Given the description of an element on the screen output the (x, y) to click on. 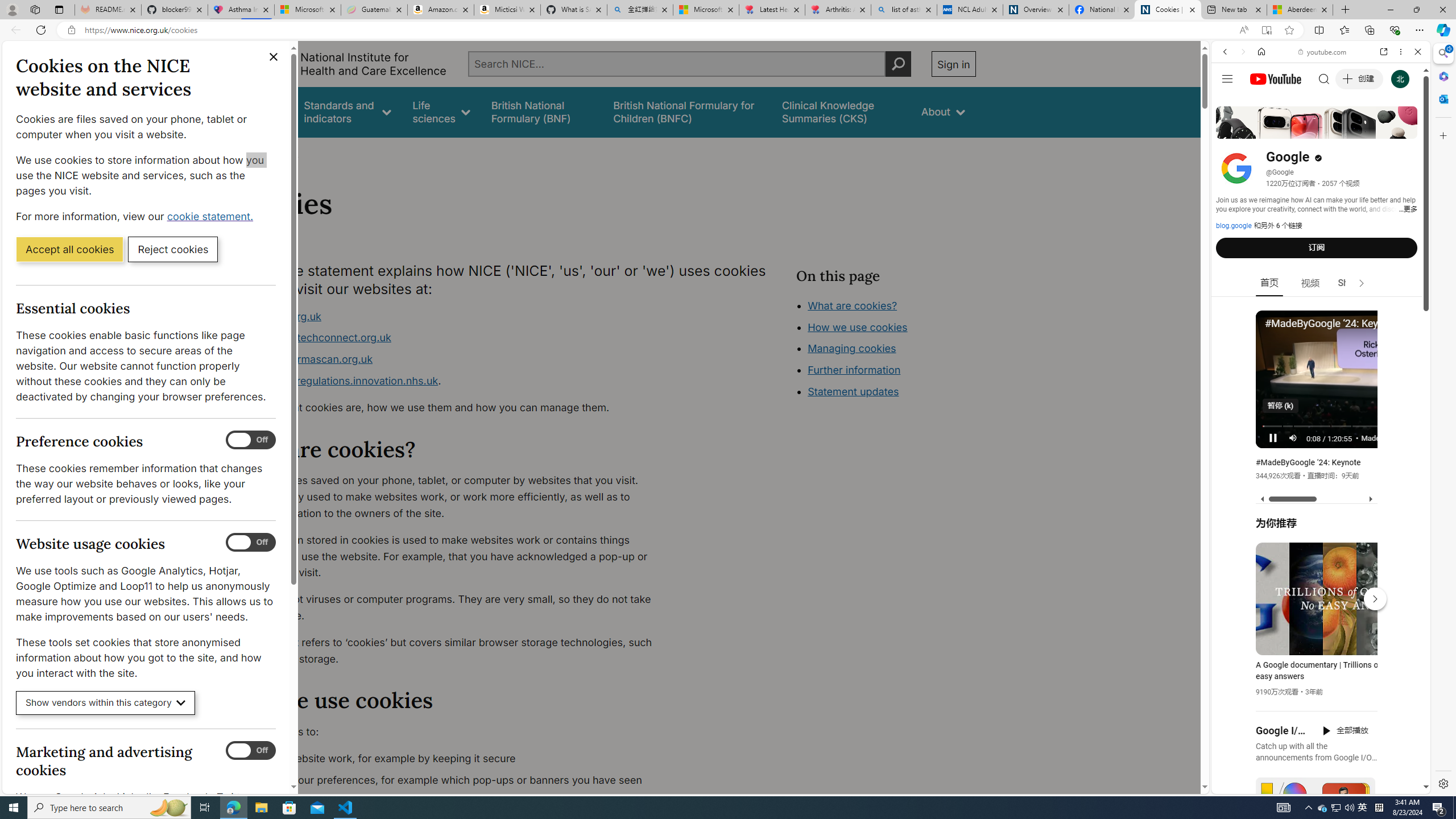
Further information (854, 369)
Show More Music (1390, 310)
Preference cookies (250, 439)
false (841, 111)
you (1315, 755)
